Given the description of an element on the screen output the (x, y) to click on. 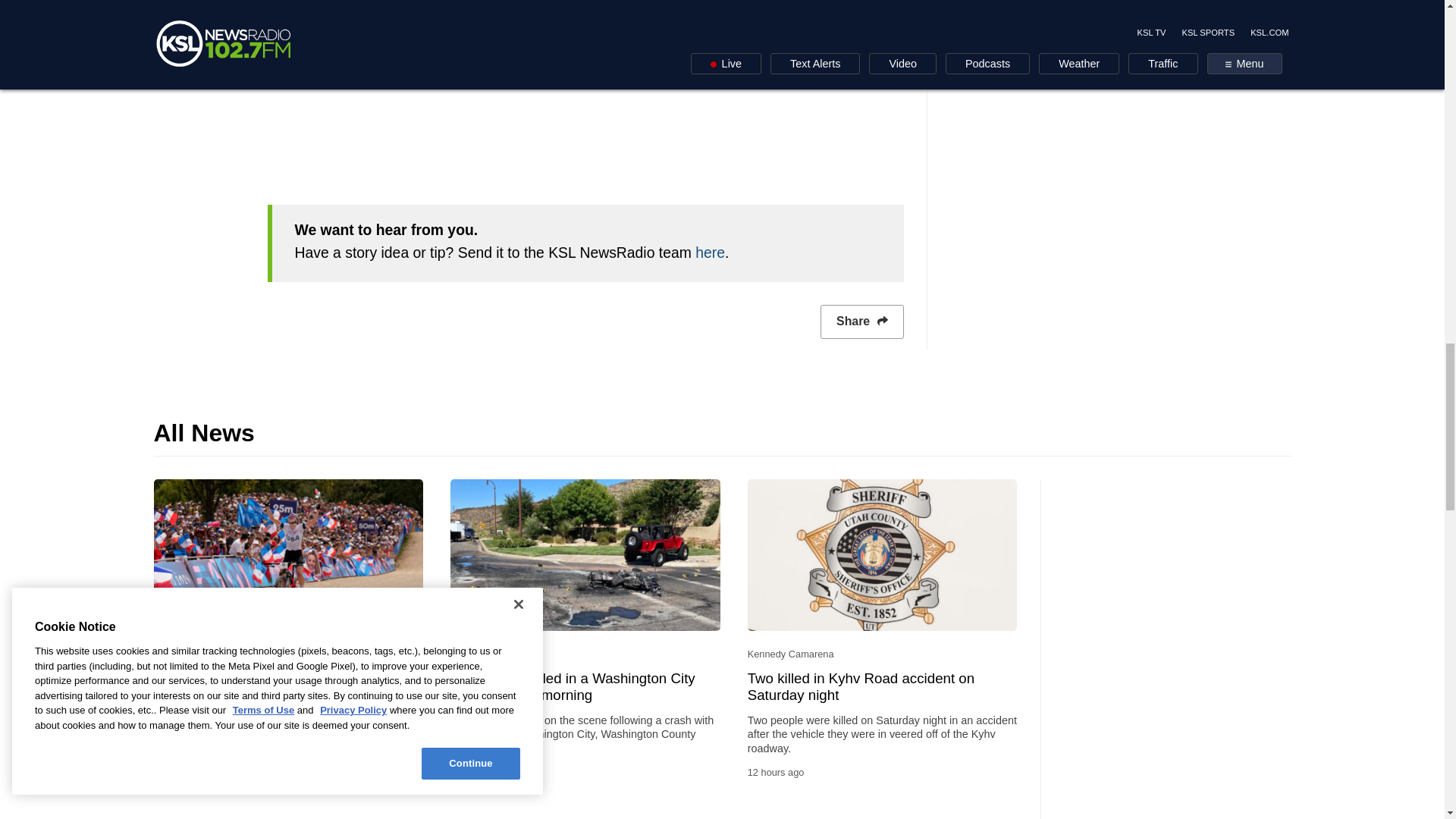
3rd party ad content (1176, 574)
Signup Widget Embed (584, 88)
